Given the description of an element on the screen output the (x, y) to click on. 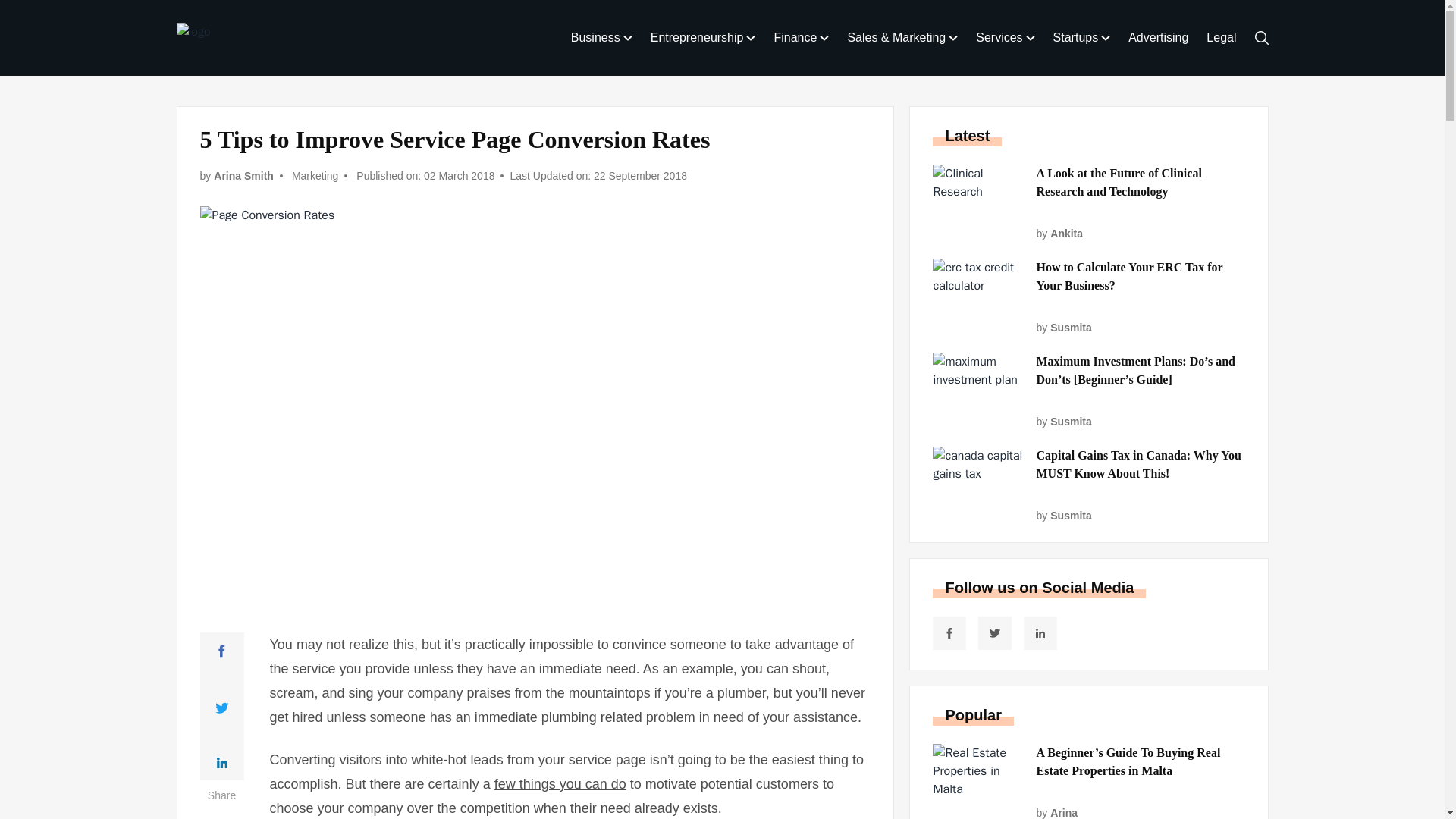
Business (601, 37)
Legal (1220, 37)
Marketing (314, 175)
Services (1005, 37)
Finance (800, 37)
Posts by Arina Smith (243, 175)
Startups (1081, 37)
Advertising (1157, 37)
Entrepreneurship (703, 37)
